Given the description of an element on the screen output the (x, y) to click on. 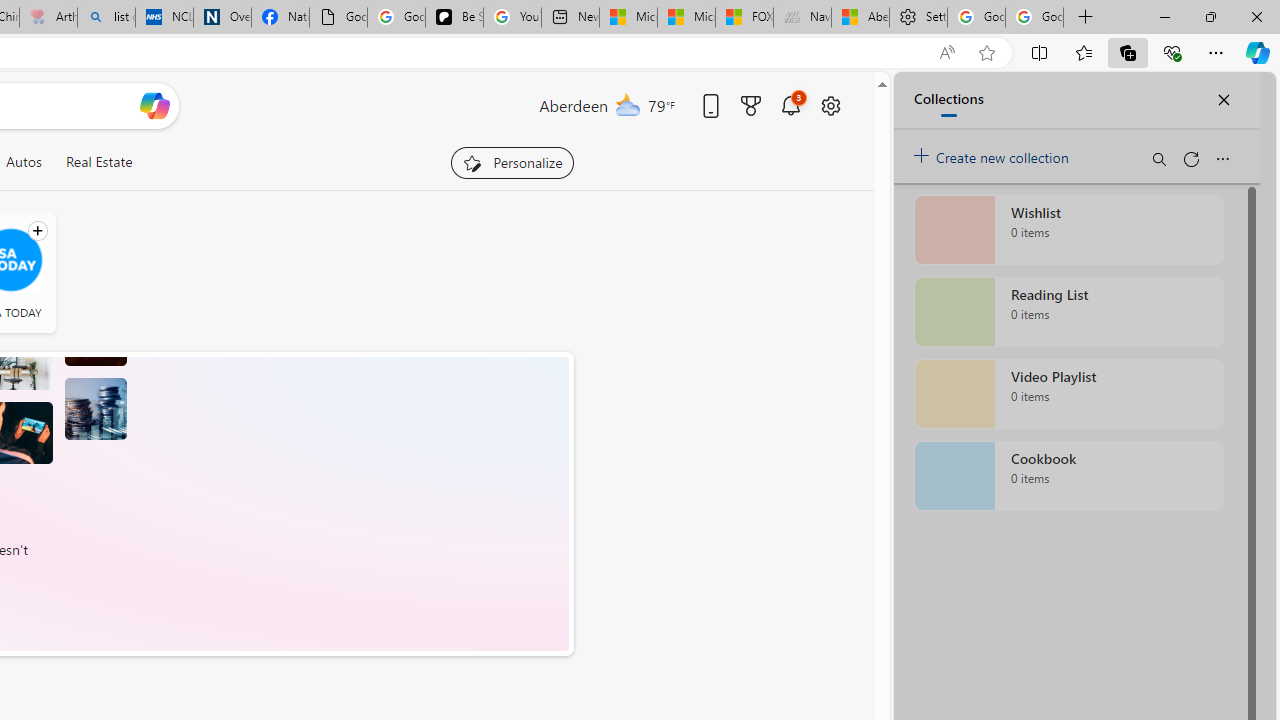
Navy Quest (802, 17)
Google Analytics Opt-out Browser Add-on Download Page (338, 17)
Microsoft rewards (749, 105)
Aberdeen, Hong Kong SAR hourly forecast | Microsoft Weather (860, 17)
Follow channel (37, 231)
NCL Adult Asthma Inhaler Choice Guideline (164, 17)
